Given the description of an element on the screen output the (x, y) to click on. 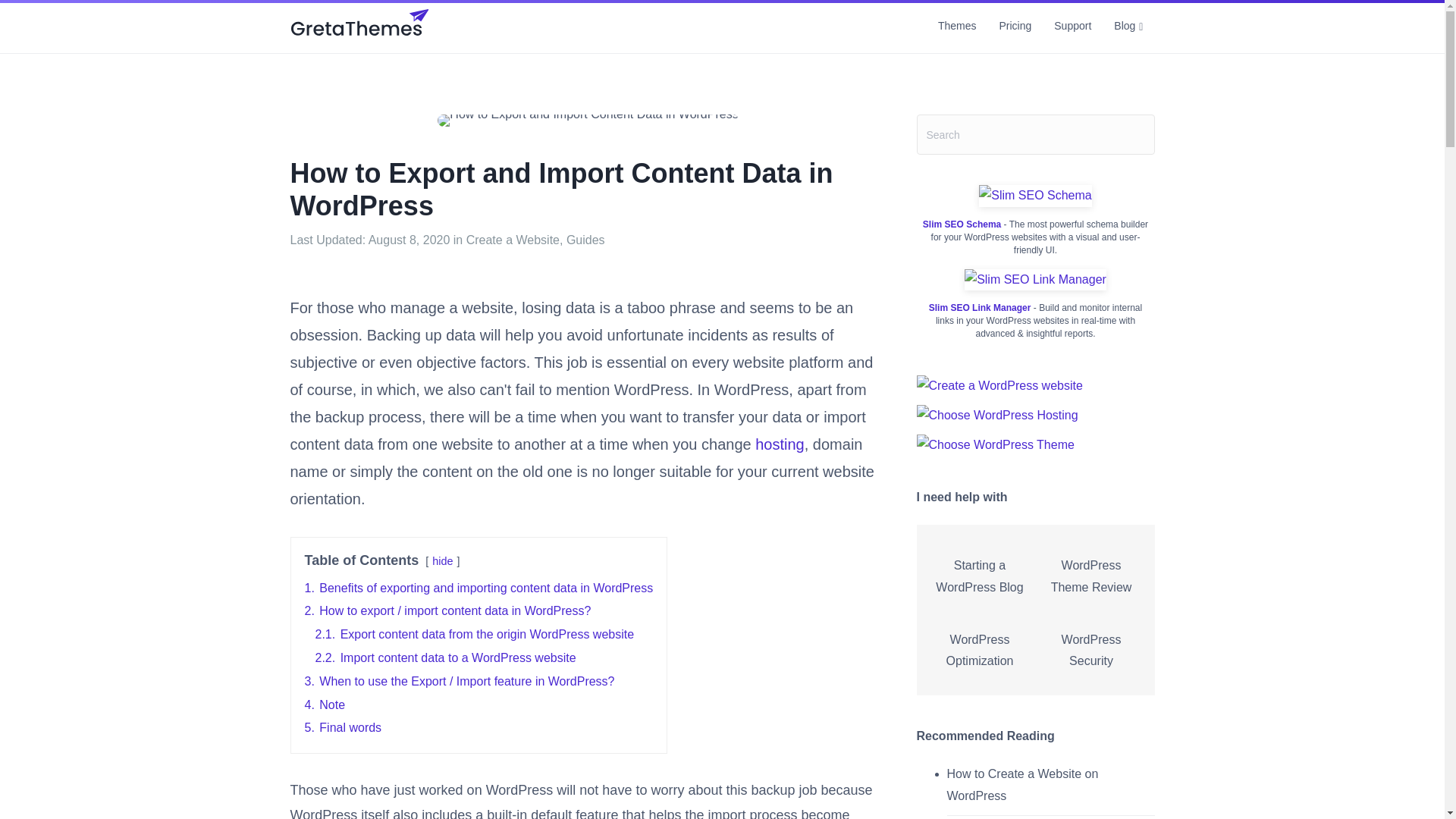
How to Export and Import Content Data in WordPress (588, 120)
Pricing (1014, 26)
Blog (1128, 26)
Type and press Enter to search. (1034, 134)
Themes (957, 26)
Create a Website (512, 239)
Guides (585, 239)
hosting (780, 443)
hide (442, 561)
